Given the description of an element on the screen output the (x, y) to click on. 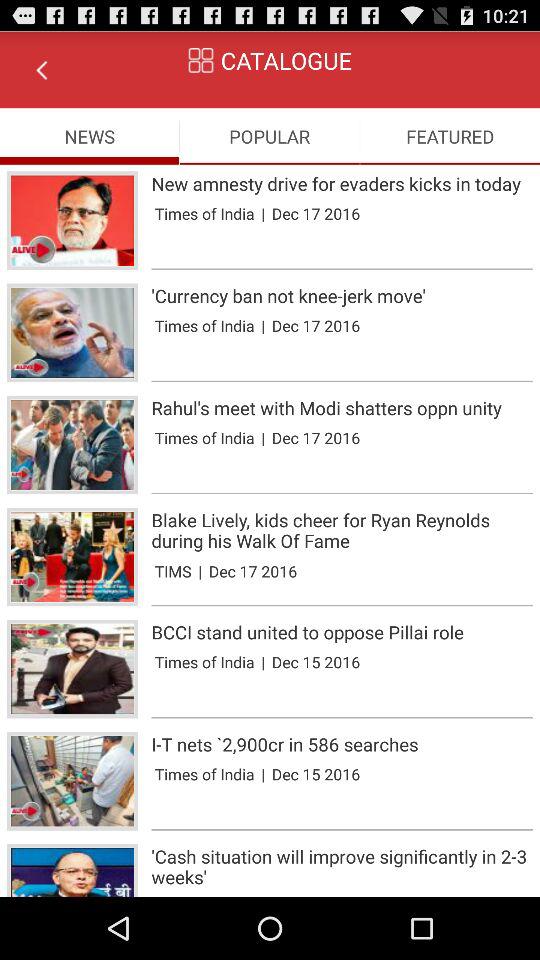
click the icon below blake lively kids icon (172, 570)
